Given the description of an element on the screen output the (x, y) to click on. 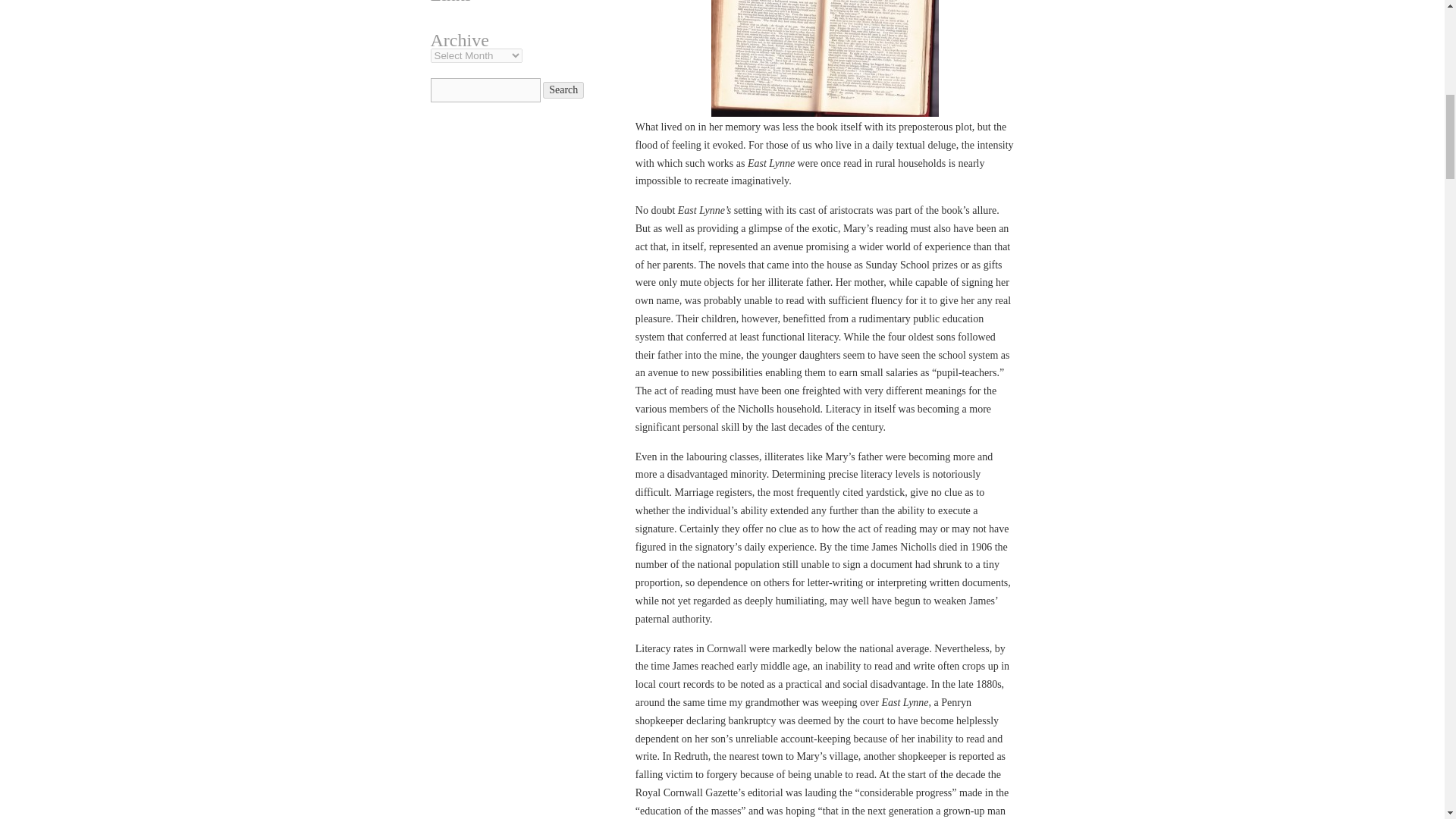
Search (563, 89)
